Given the description of an element on the screen output the (x, y) to click on. 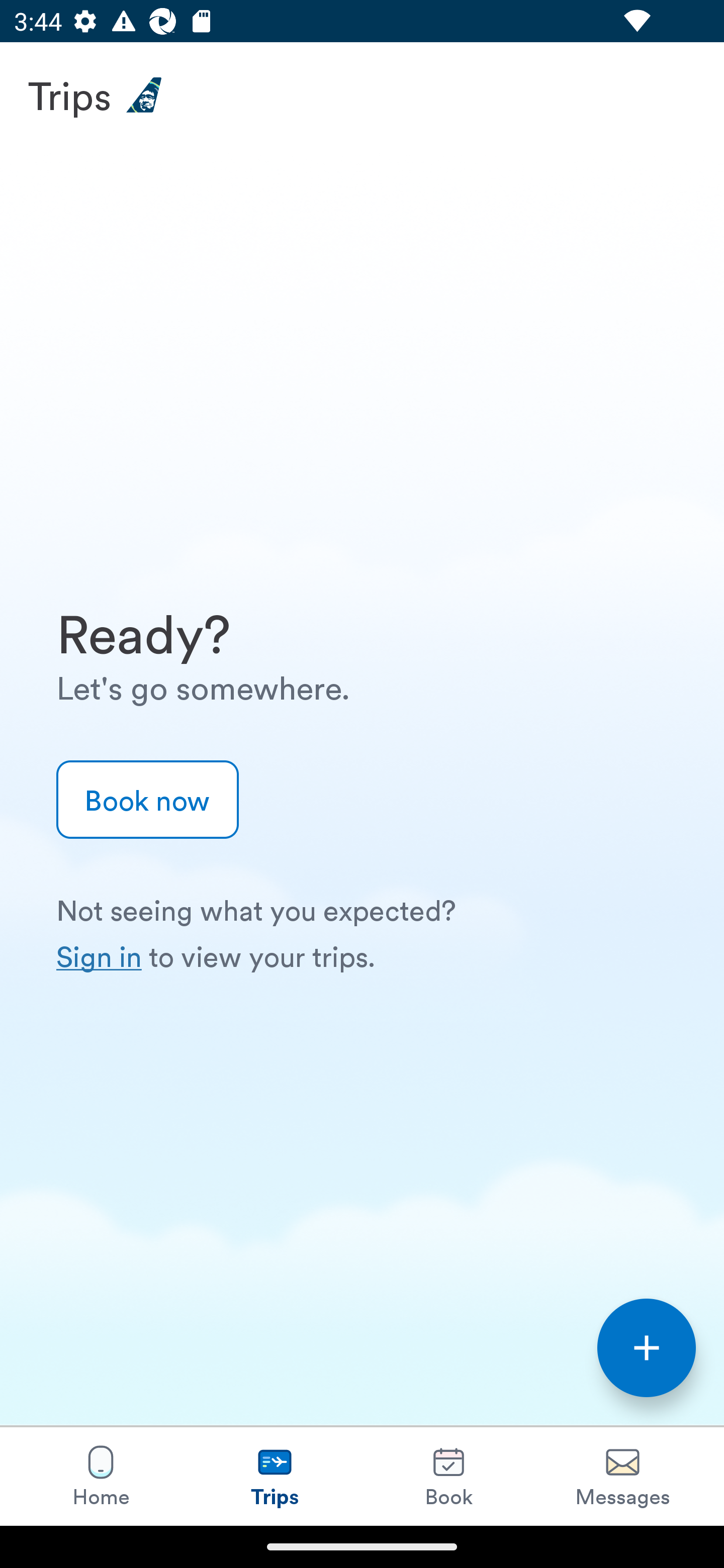
Book now (147, 799)
Home (100, 1475)
Trips (275, 1475)
Book (448, 1475)
Messages (622, 1475)
